Given the description of an element on the screen output the (x, y) to click on. 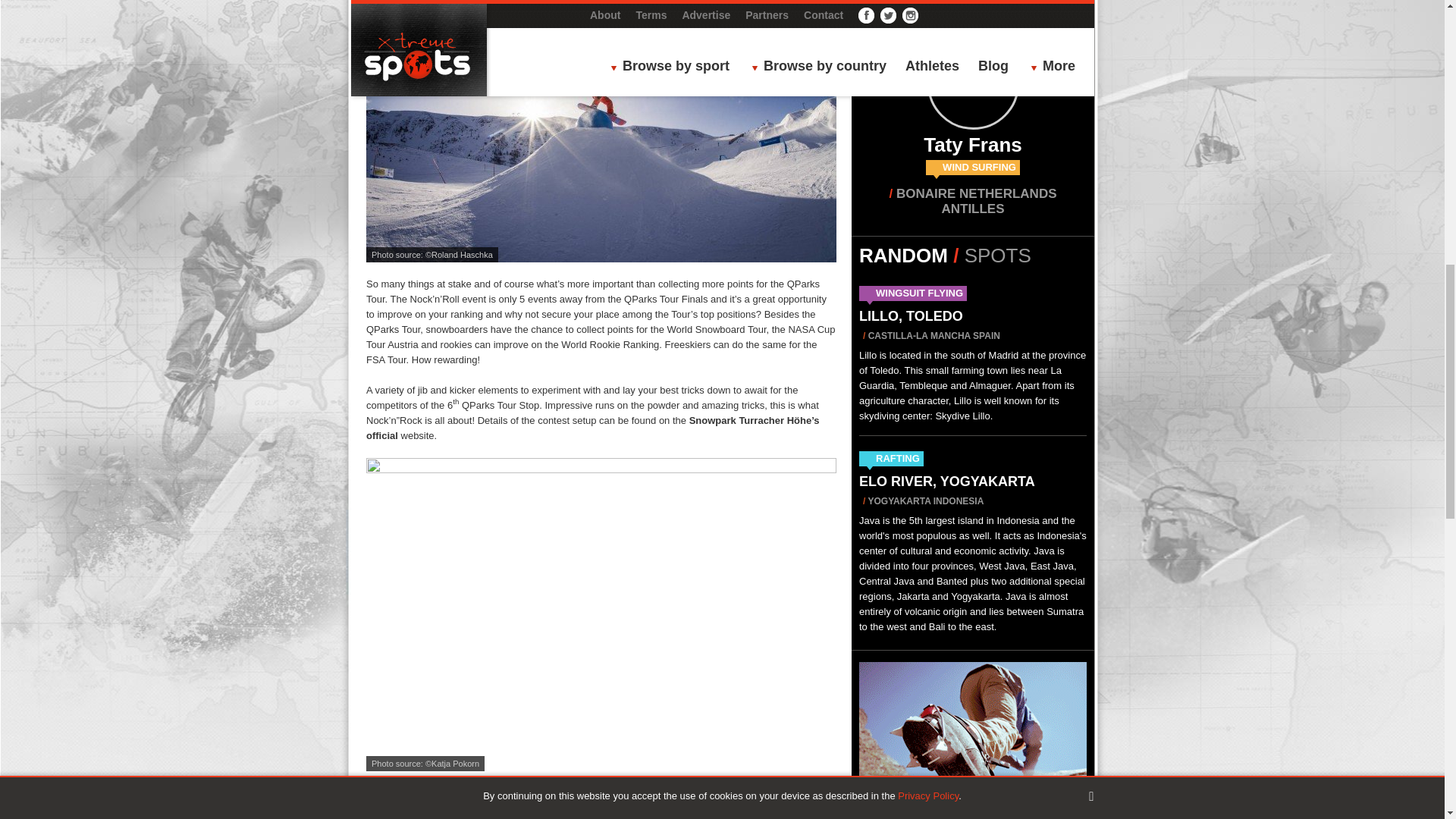
View all spots in Rafting (898, 457)
View this spot (910, 314)
View all spots in Wingsuit Flying (919, 292)
View this spot (947, 480)
"Time for the 6th QParks Tour Stop of the season" (600, 130)
